Given the description of an element on the screen output the (x, y) to click on. 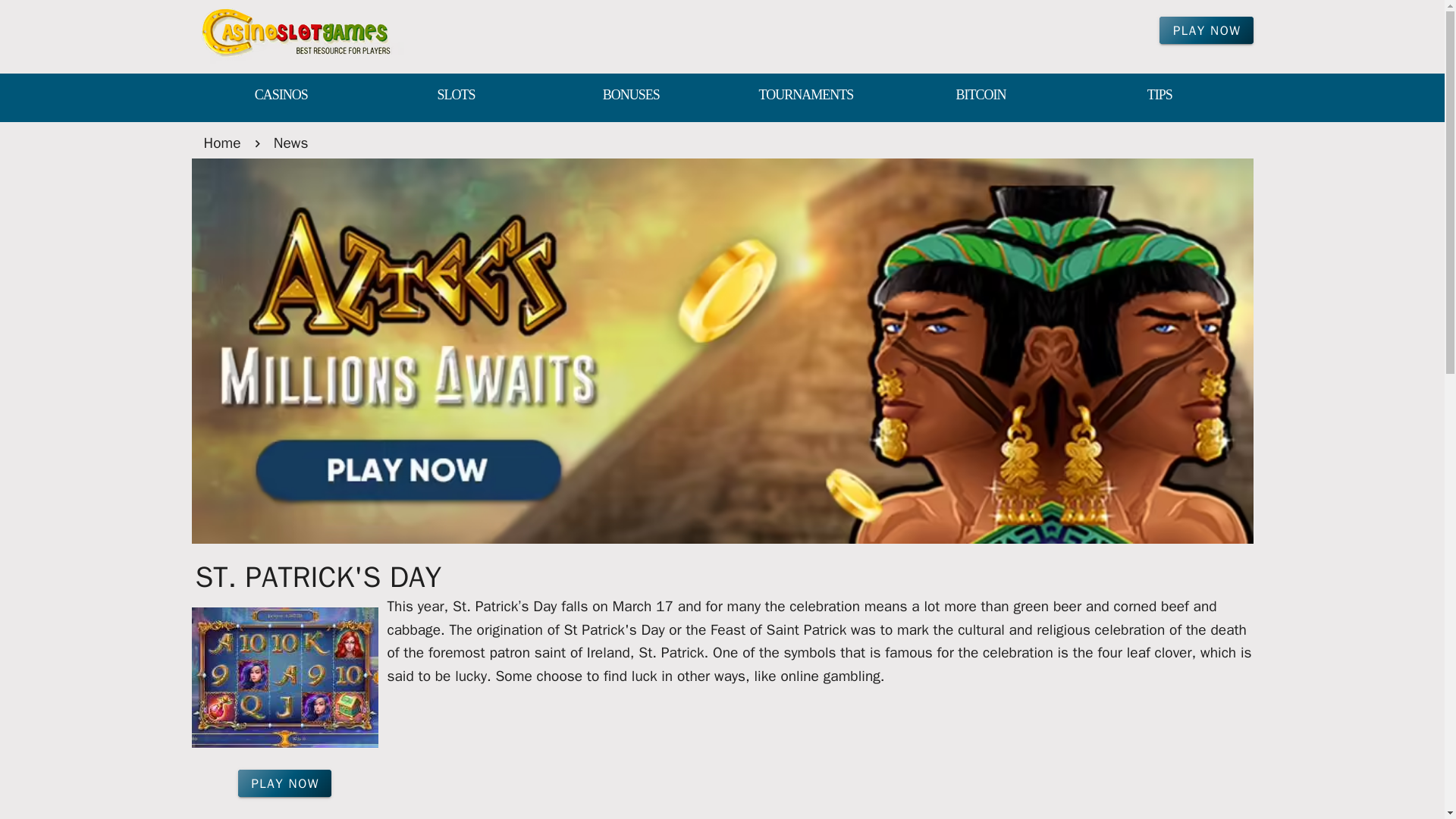
CASINOS (280, 95)
PLAY NOW (1205, 30)
TIPS (1159, 95)
BITCOIN (980, 95)
News (290, 143)
BONUSES (630, 95)
SLOTS (456, 95)
PLAY NOW (284, 782)
Home (221, 143)
TOURNAMENTS (805, 95)
